Given the description of an element on the screen output the (x, y) to click on. 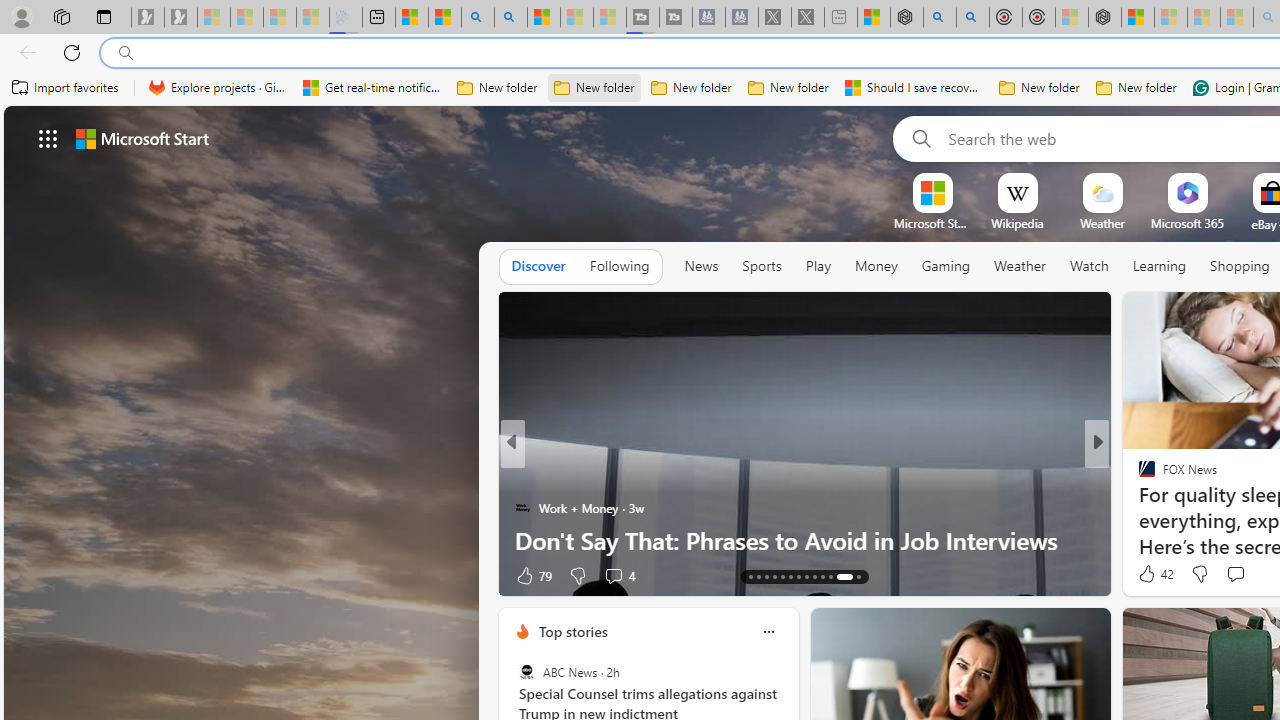
View comments 124 Comment (11, 575)
42 Like (1154, 574)
poe ++ standard - Search (973, 17)
79 Like (532, 574)
AutomationID: tab-22 (821, 576)
AutomationID: tab-16 (774, 576)
Class: control (47, 138)
Work + Money (522, 507)
